Given the description of an element on the screen output the (x, y) to click on. 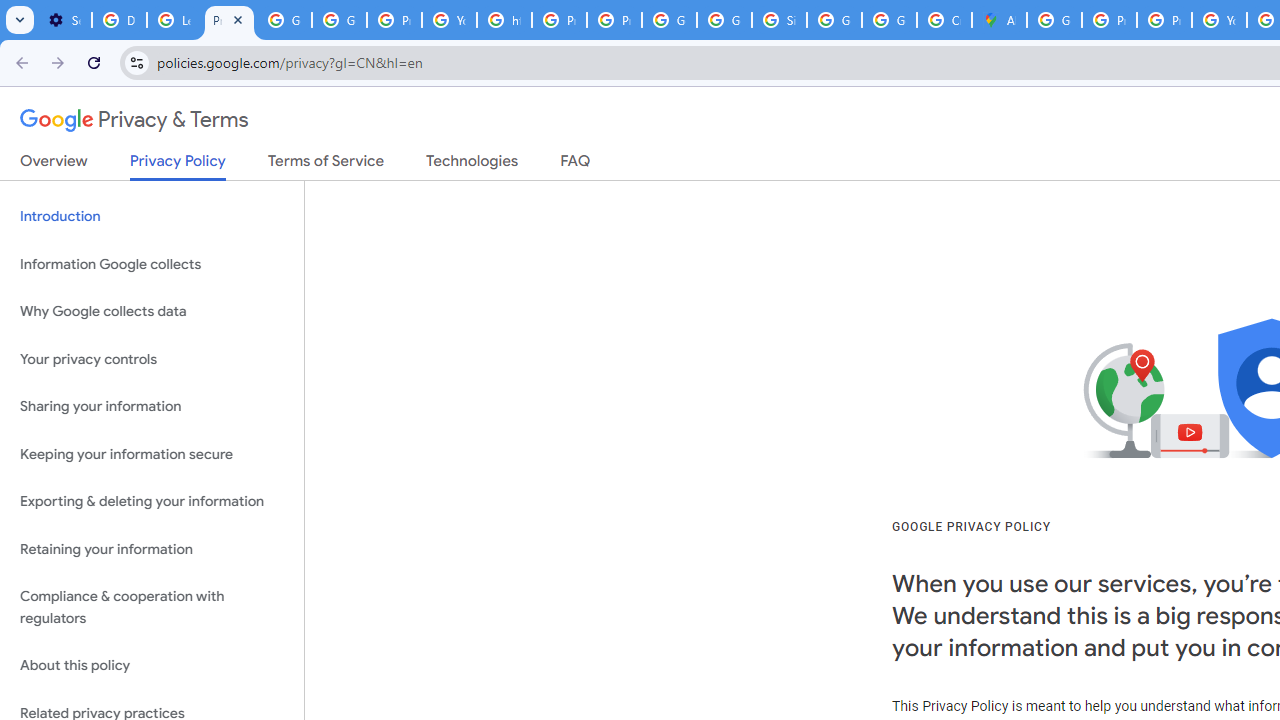
https://scholar.google.com/ (504, 20)
Privacy Help Center - Policies Help (1108, 20)
Information Google collects (152, 263)
Create your Google Account (943, 20)
Your privacy controls (152, 358)
About this policy (152, 666)
